Given the description of an element on the screen output the (x, y) to click on. 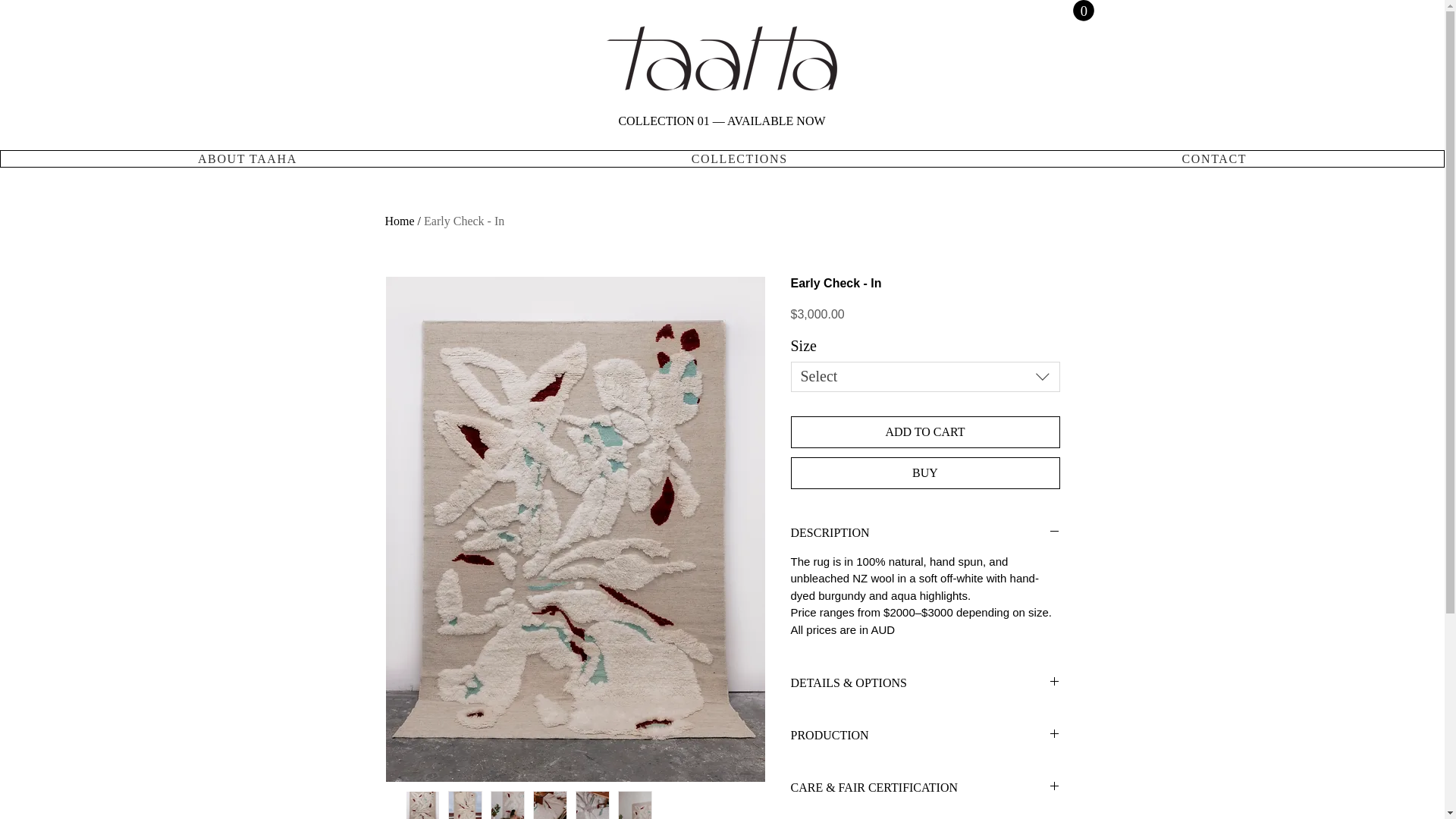
ADD TO CART (924, 431)
0 (1082, 10)
PRODUCTION (924, 735)
Early Check - In (463, 220)
BUY (924, 472)
COLLECTIONS (740, 158)
CONTACT (1214, 158)
Select (924, 376)
0 (1082, 10)
ABOUT TAAHA (248, 158)
Home (399, 220)
DESCRIPTION (924, 532)
